Given the description of an element on the screen output the (x, y) to click on. 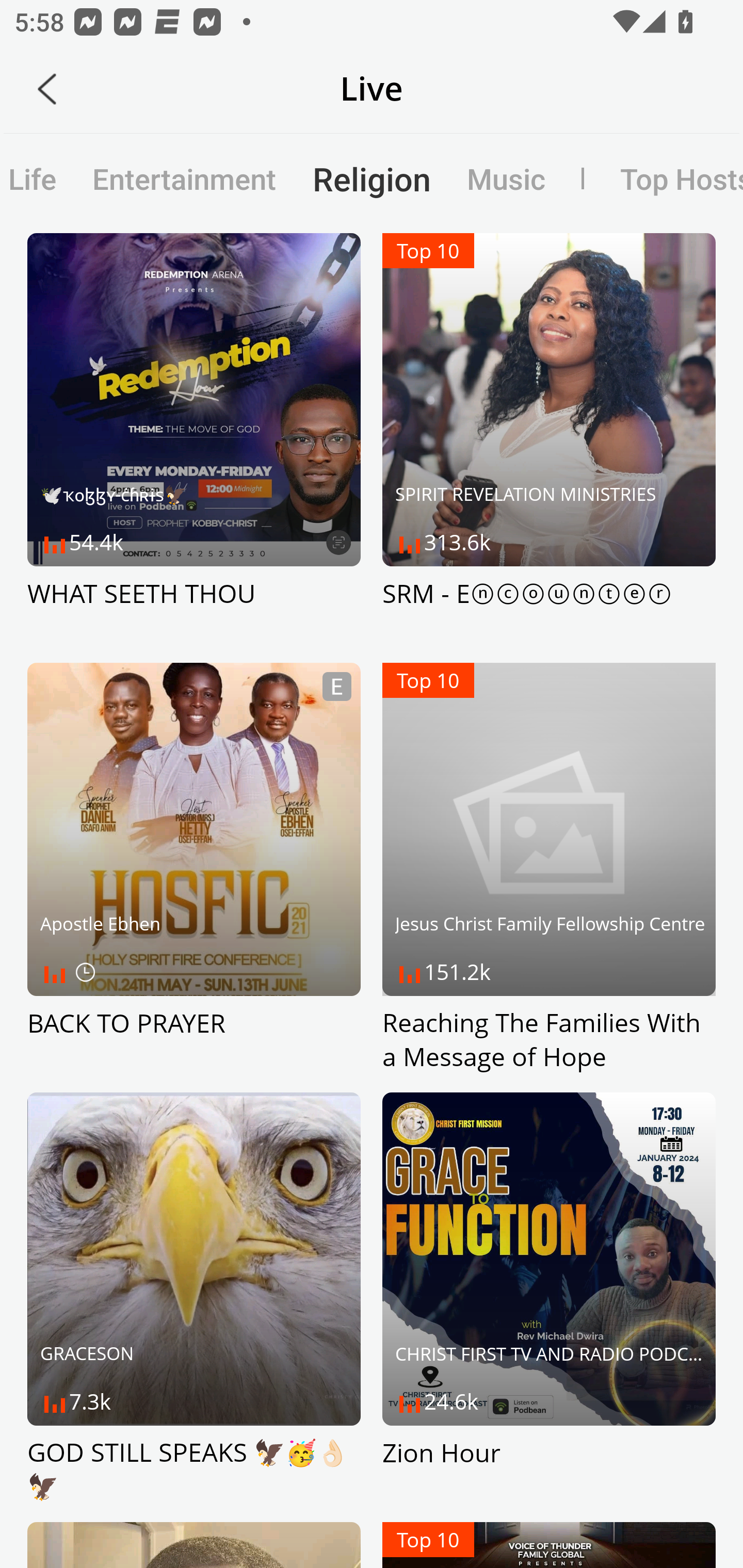
Back (46, 88)
Life (37, 178)
Entertainment (184, 178)
Music (505, 178)
🕊ҡօɮɮʏ-ċɦʀɨs🦅 54.4k WHAT SEETH THOU  (193, 438)
Apostle Ebhen BACK TO PRAYER (193, 868)
GRACESON 7.3k GOD STILL SPEAKS 🦅🥳👌🏻🦅 (193, 1297)
